Given the description of an element on the screen output the (x, y) to click on. 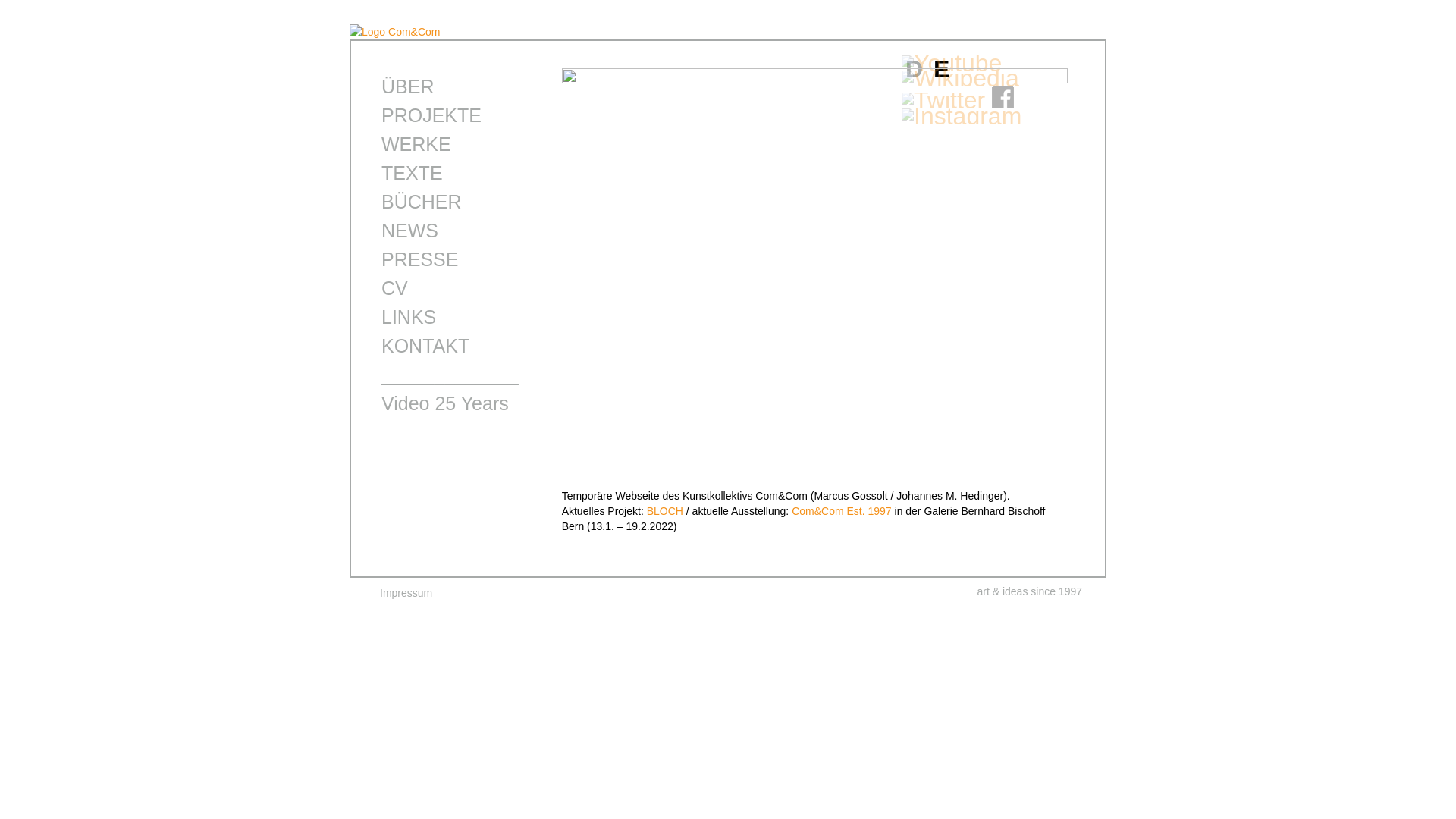
Com&Com Est. 1997 Element type: text (841, 511)
D Element type: text (913, 68)
NEWS Element type: text (409, 230)
WERKE Element type: text (416, 143)
Impressum Element type: text (405, 592)
CV Element type: text (394, 287)
PROJEKTE Element type: text (431, 114)
BLOCH Element type: text (664, 511)
_____________ Element type: text (449, 374)
PRESSE Element type: text (419, 258)
Video 25 Years Element type: text (444, 403)
TEXTE Element type: text (411, 172)
Home Element type: hover (394, 31)
KONTAKT Element type: text (425, 345)
LINKS Element type: text (408, 316)
E Element type: text (941, 68)
Facebook Element type: hover (1002, 99)
